Given the description of an element on the screen output the (x, y) to click on. 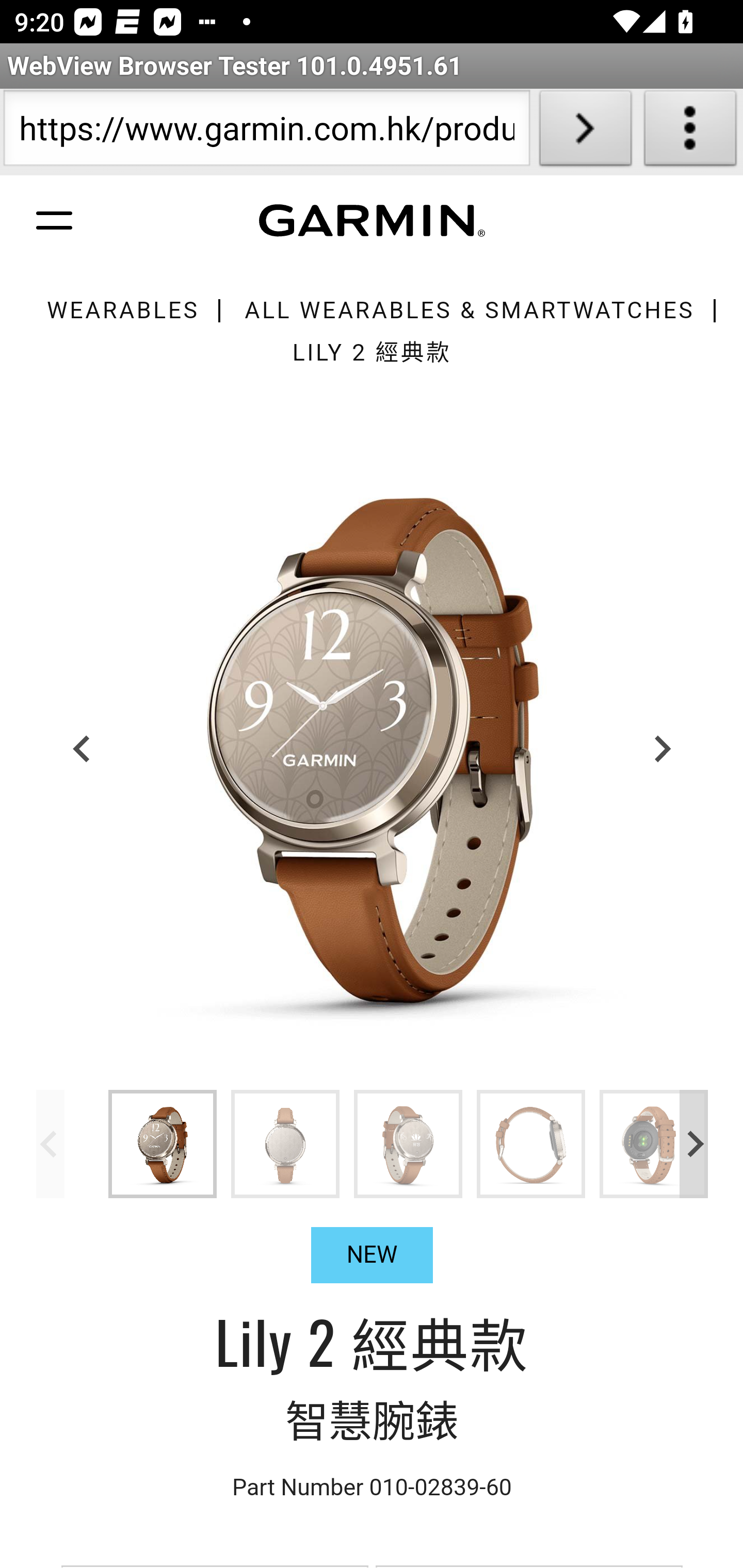
Load URL (585, 132)
About WebView (690, 132)
Navigate to Garmin.com (371, 220)
Wearables WEARABLES (122, 310)
LILY 2 經典款 (371, 351)
1 of 5 (372, 747)
Previous slide (82, 748)
Next slide (661, 748)
Previous slide (50, 1142)
Go to slide 1 (163, 1142)
Go to slide 2 (286, 1142)
Go to slide 3 (407, 1142)
Go to slide 4 (531, 1142)
Go to slide 5 (654, 1142)
Next slide (694, 1142)
